Given the description of an element on the screen output the (x, y) to click on. 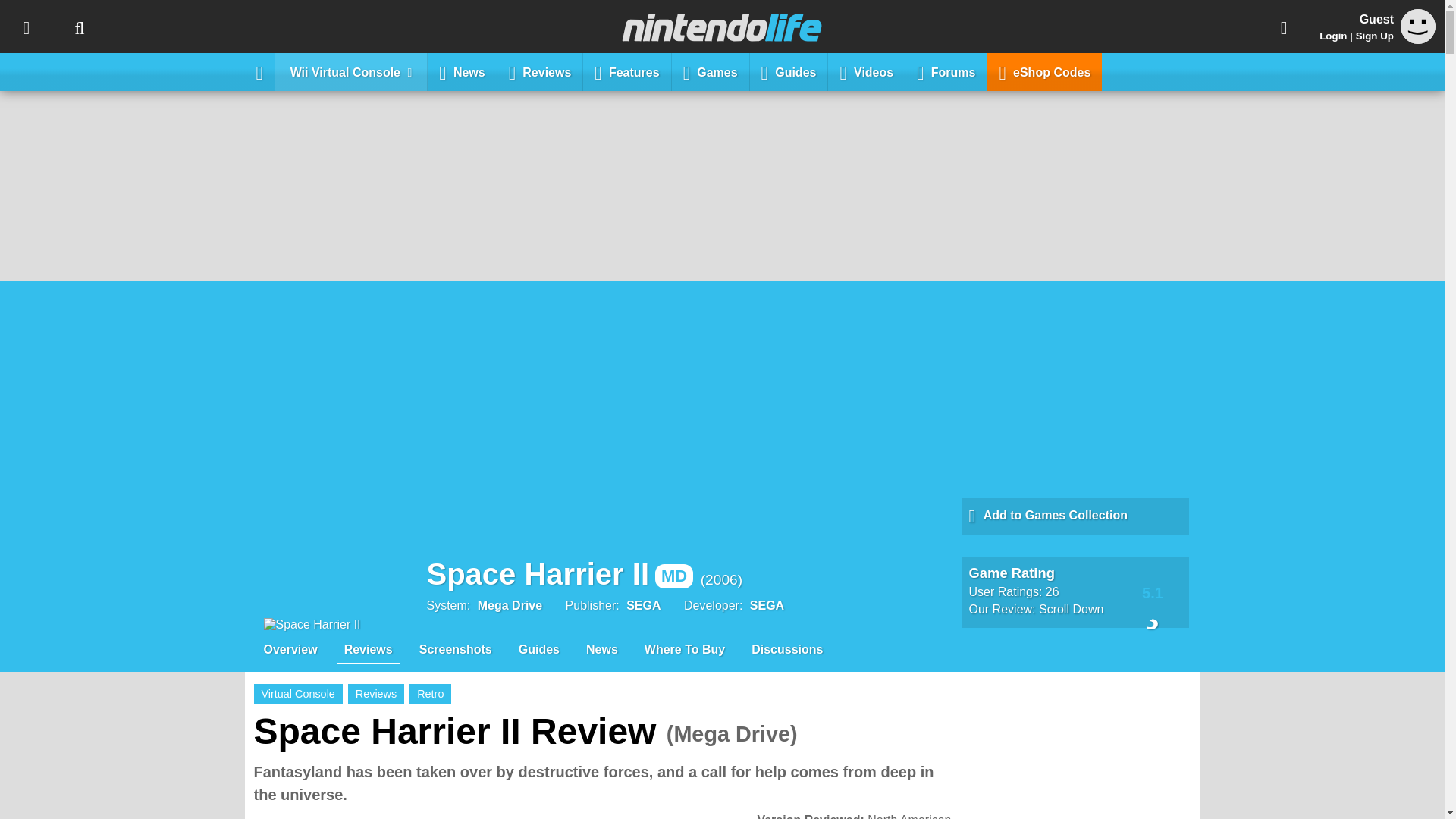
News (462, 71)
Space Harrier IIMD (559, 573)
Games (710, 71)
Login (1332, 35)
The average score from our readers is 5.12 (1152, 591)
eShop Codes (1044, 71)
Sign Up (1374, 35)
Topics (26, 26)
Guides (788, 71)
Guest (1417, 26)
Guest (1417, 39)
Reviews (540, 71)
Share This Page (1283, 26)
Nintendo Life (721, 27)
Forums (946, 71)
